Given the description of an element on the screen output the (x, y) to click on. 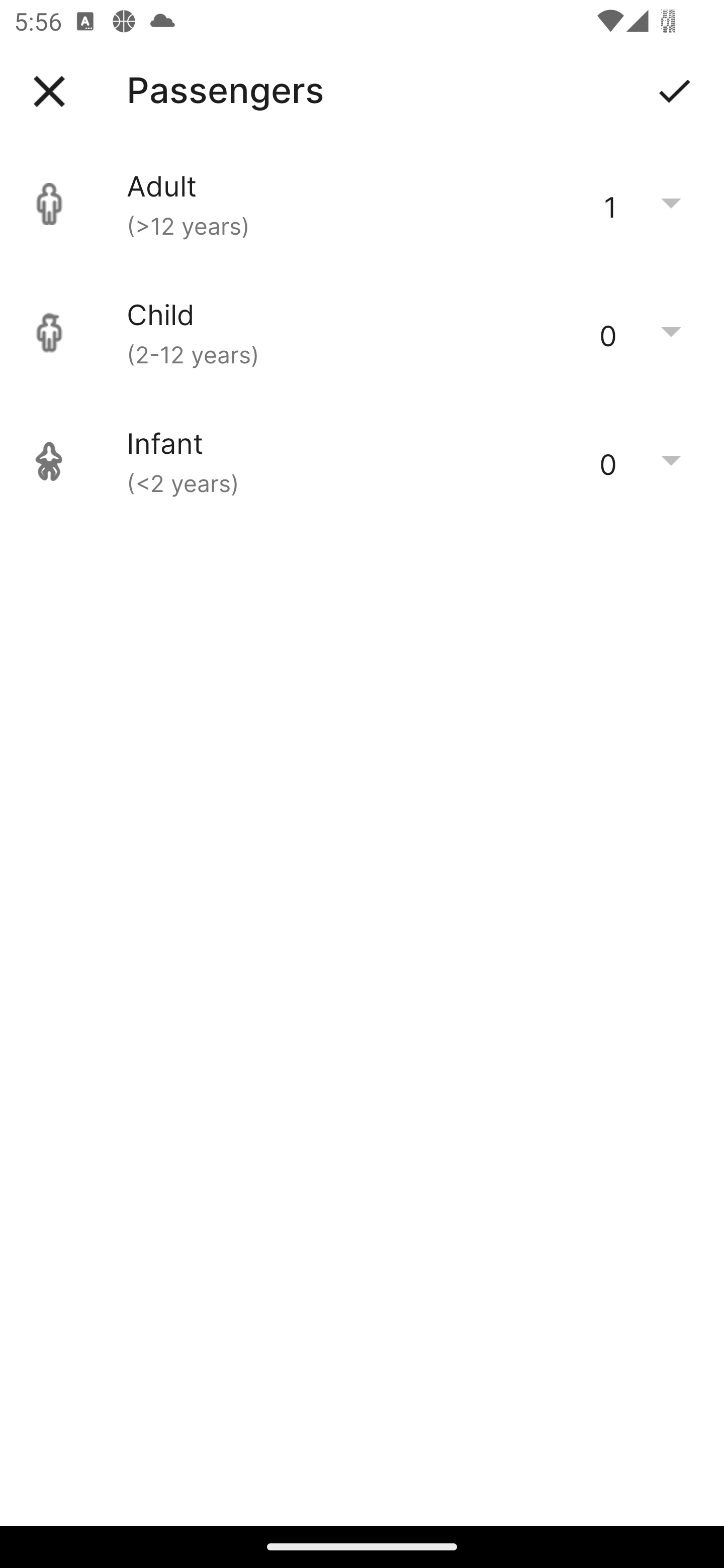
Adult (>12 years) 1 (362, 204)
Child (2-12 years) 0 (362, 332)
Infant (<2 years) 0 (362, 461)
